Given the description of an element on the screen output the (x, y) to click on. 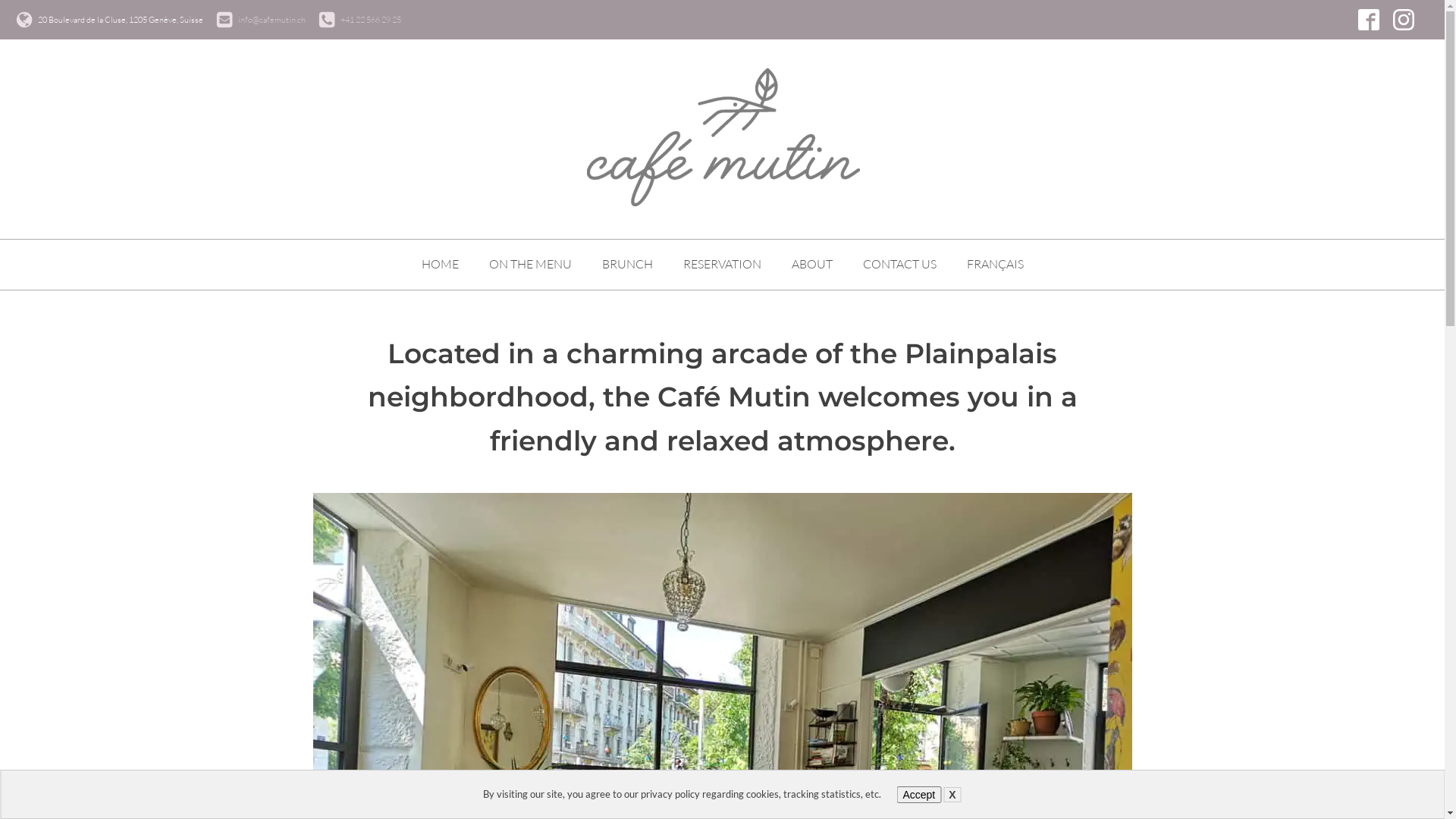
BRUNCH Element type: text (627, 264)
+41 22 566 29 25 Element type: text (370, 19)
ON THE MENU Element type: text (529, 264)
ABOUT Element type: text (811, 264)
X Element type: text (951, 794)
CONTACT US Element type: text (899, 264)
RESERVATION Element type: text (721, 264)
Accept Element type: text (918, 794)
info@cafemutin.ch Element type: text (271, 19)
HOME Element type: text (439, 264)
